Given the description of an element on the screen output the (x, y) to click on. 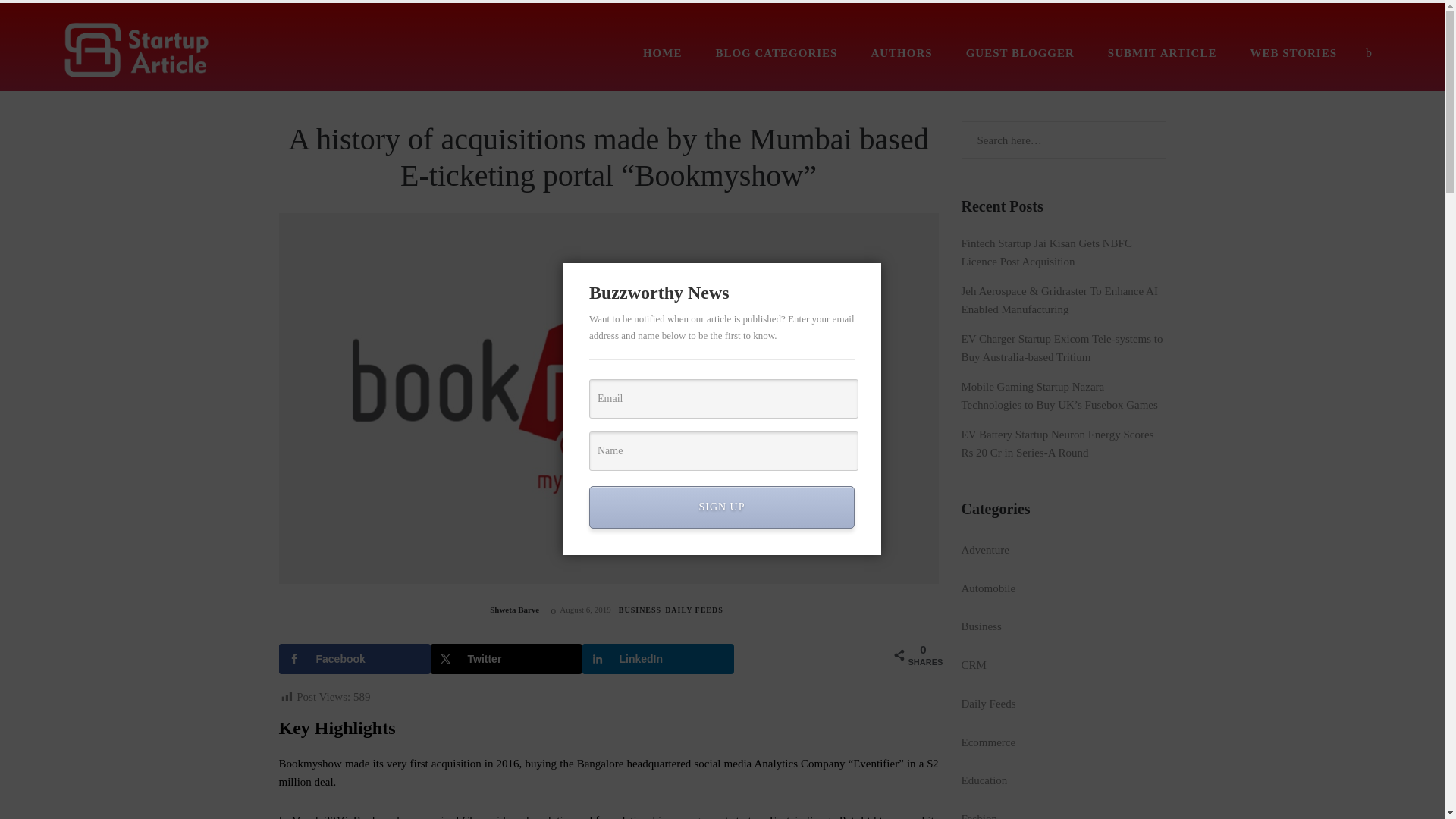
Search for: (1063, 139)
Name (724, 450)
AUTHORS (900, 52)
Share on X (506, 658)
SUBMIT ARTICLE (1162, 52)
Share on LinkedIn (657, 658)
GUEST BLOGGER (1019, 52)
WEB STORIES (1292, 52)
Email (724, 398)
BLOG CATEGORIES (775, 52)
